Given the description of an element on the screen output the (x, y) to click on. 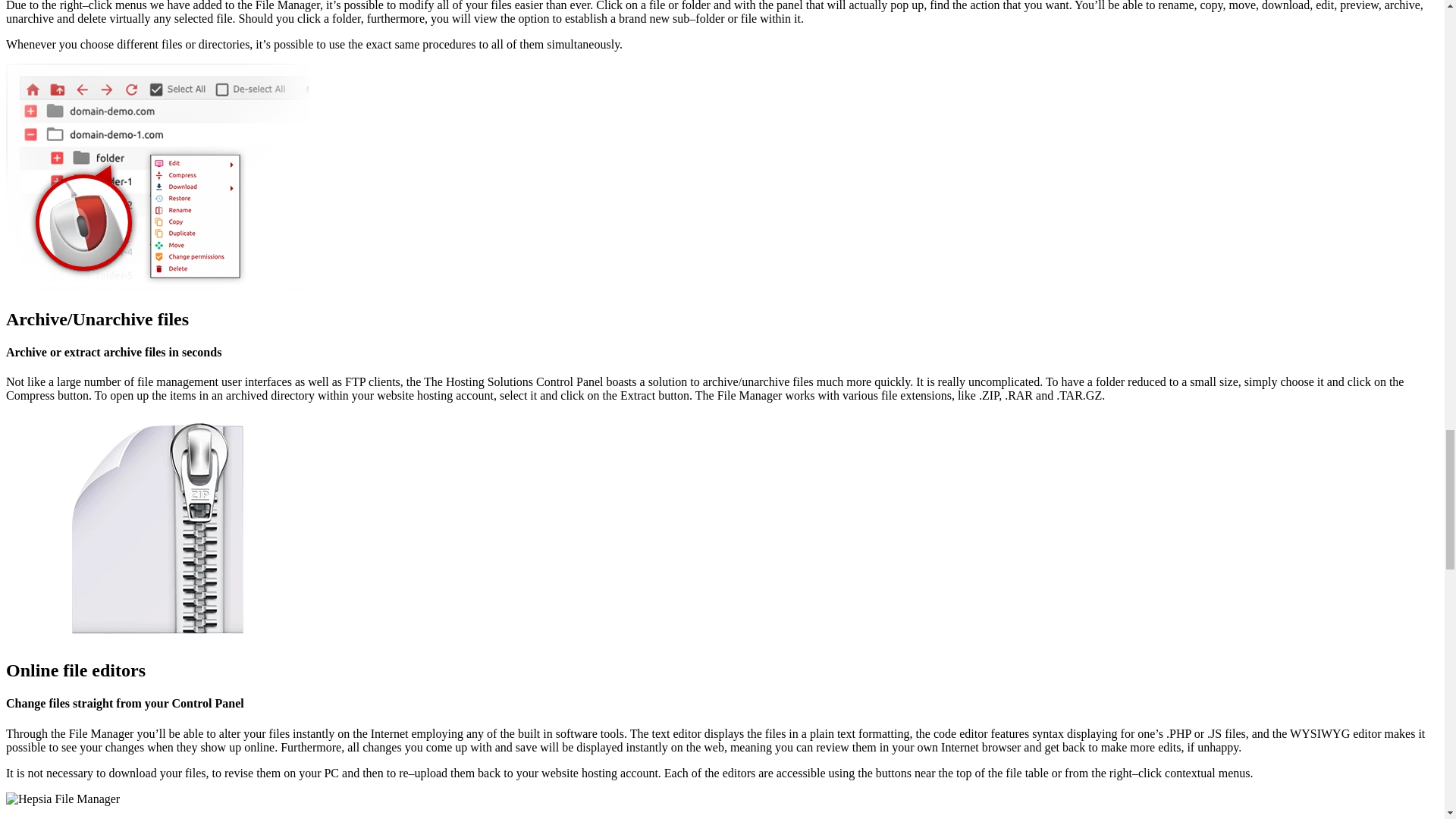
Hepsia File Manager (62, 798)
Hepsia File Manager (156, 528)
Hepsia File Manager (156, 177)
